Given the description of an element on the screen output the (x, y) to click on. 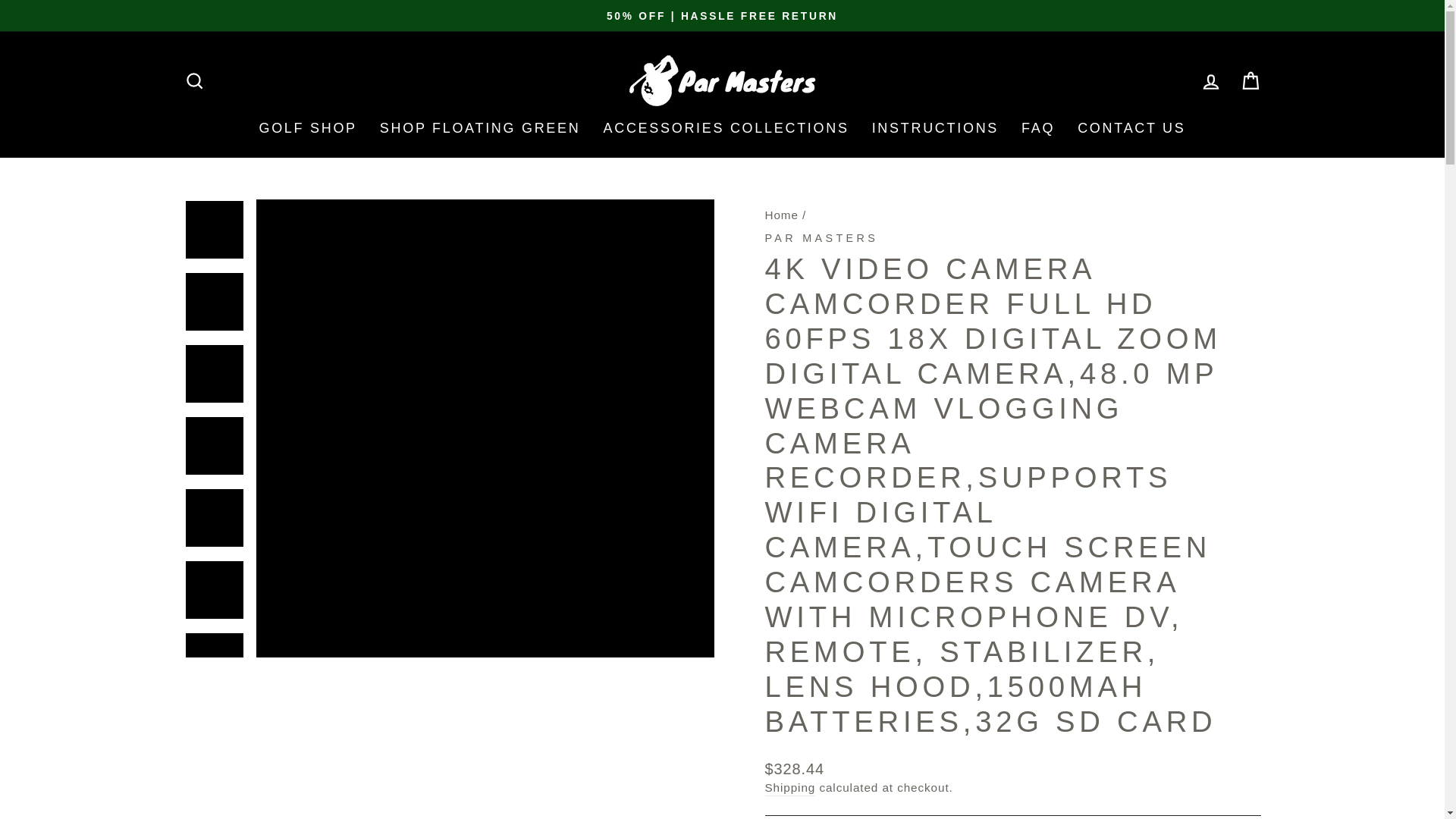
Par Masters (820, 237)
Back to the frontpage (780, 214)
